Given the description of an element on the screen output the (x, y) to click on. 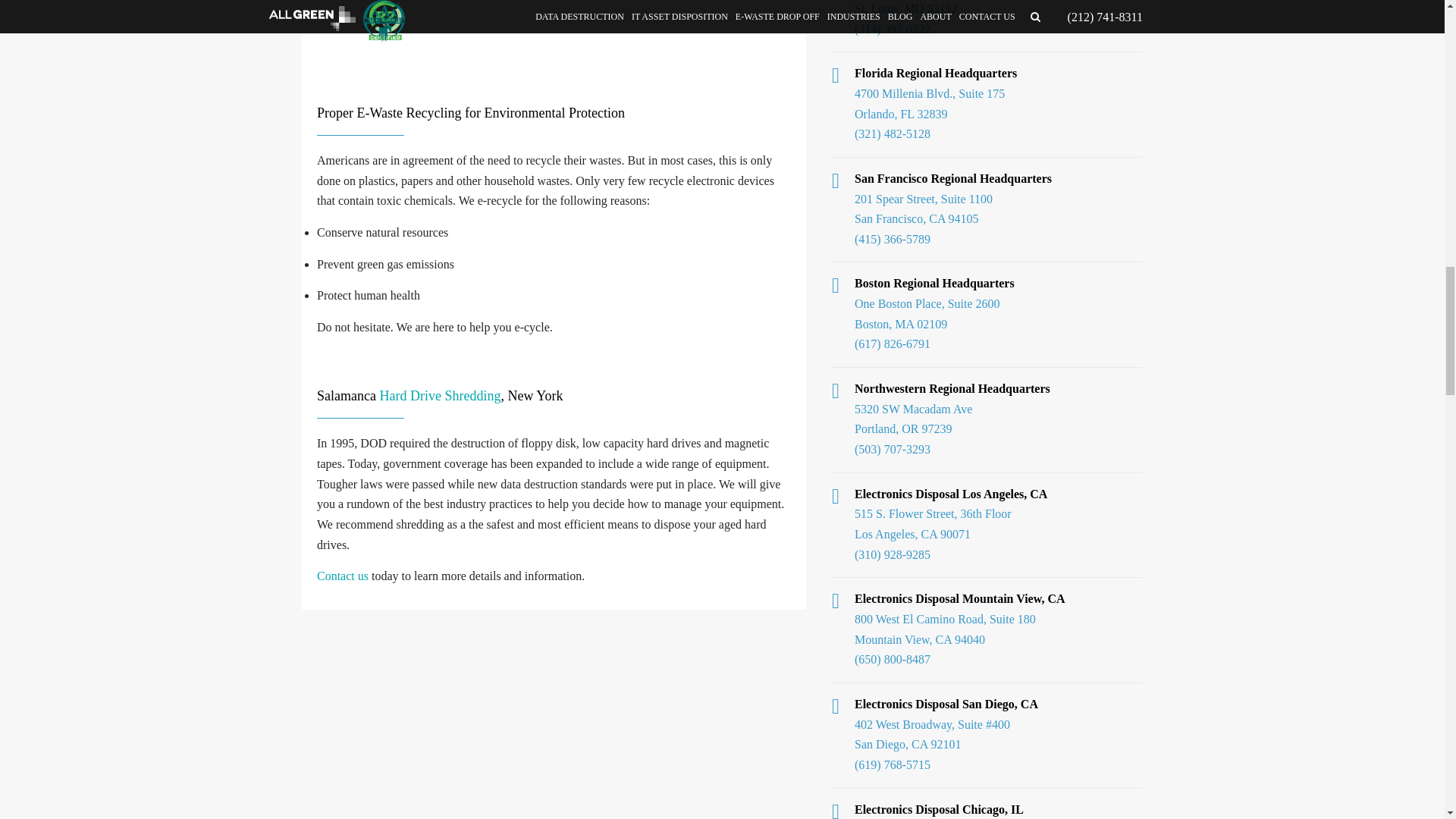
Salamanca electronic waste recycling 3 (554, 43)
Contact us (342, 575)
Hard Drive Shredding (439, 395)
